Given the description of an element on the screen output the (x, y) to click on. 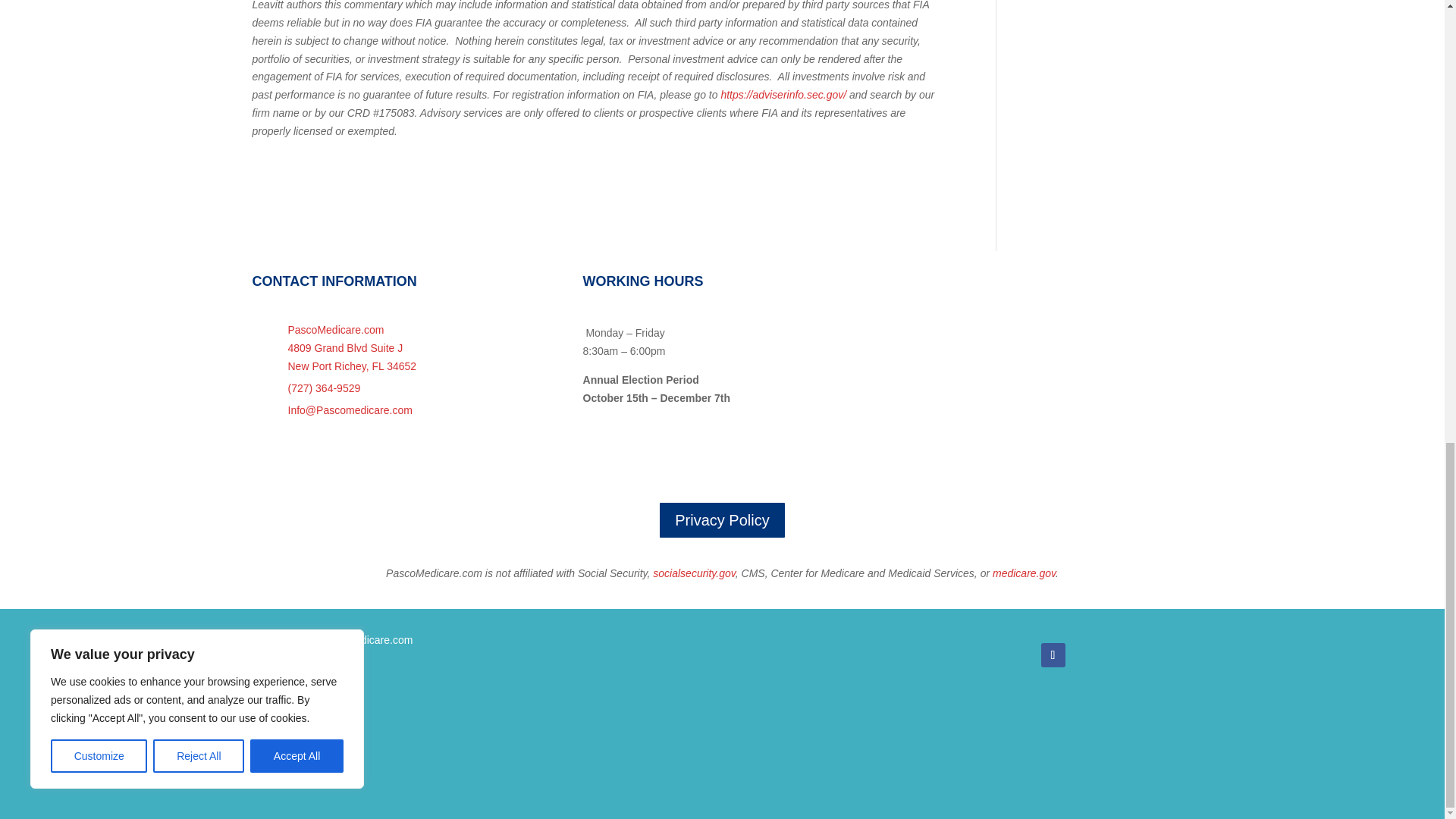
Follow on Facebook (1053, 654)
